Given the description of an element on the screen output the (x, y) to click on. 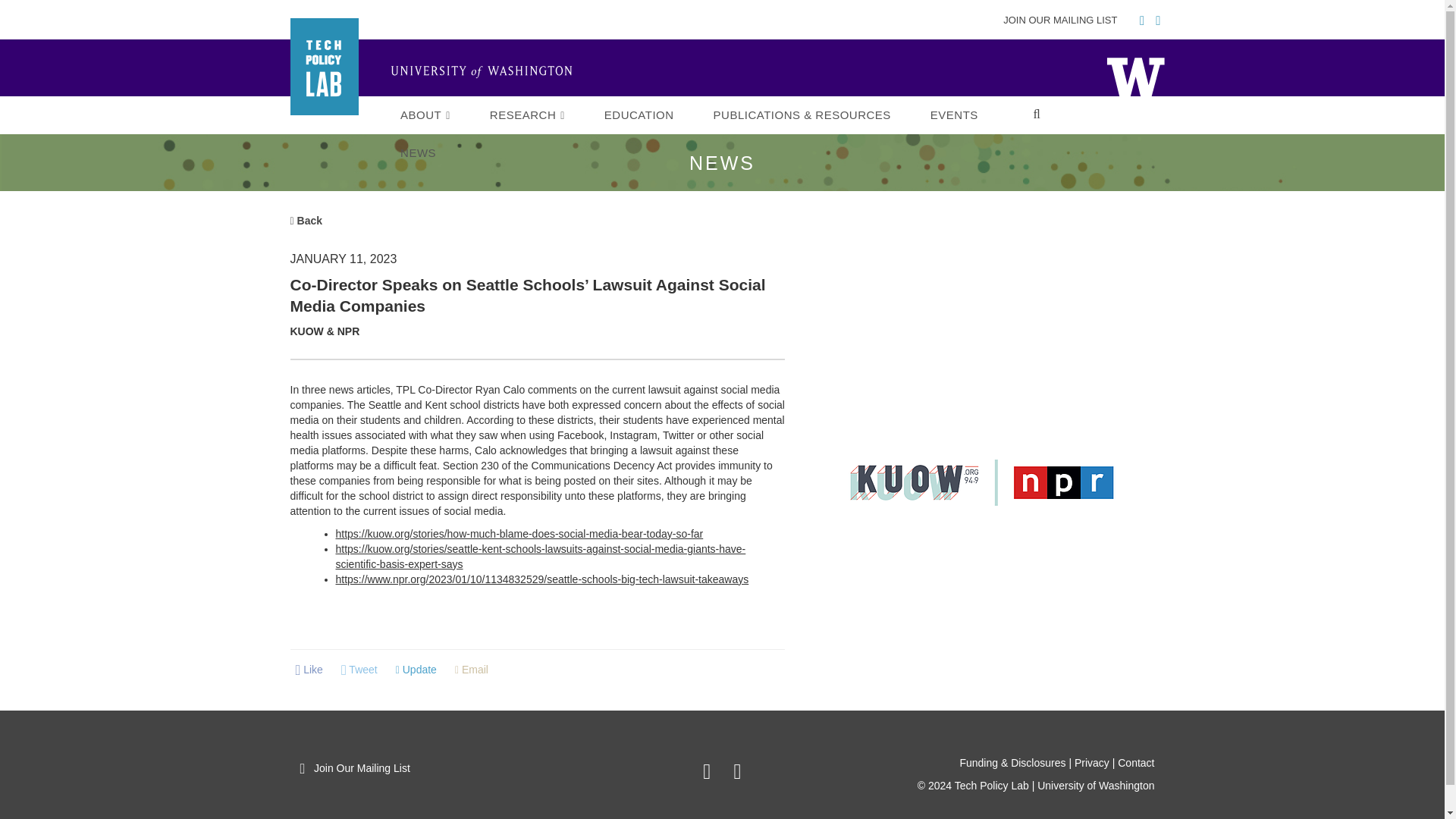
Home (486, 72)
Home (1134, 75)
Back (305, 220)
ABOUT (425, 115)
University of Washington Home (486, 72)
JOIN OUR MAILING LIST (1063, 19)
Like (308, 670)
University of Washington (1134, 75)
EDUCATION (639, 115)
RESEARCH (527, 115)
